Given the description of an element on the screen output the (x, y) to click on. 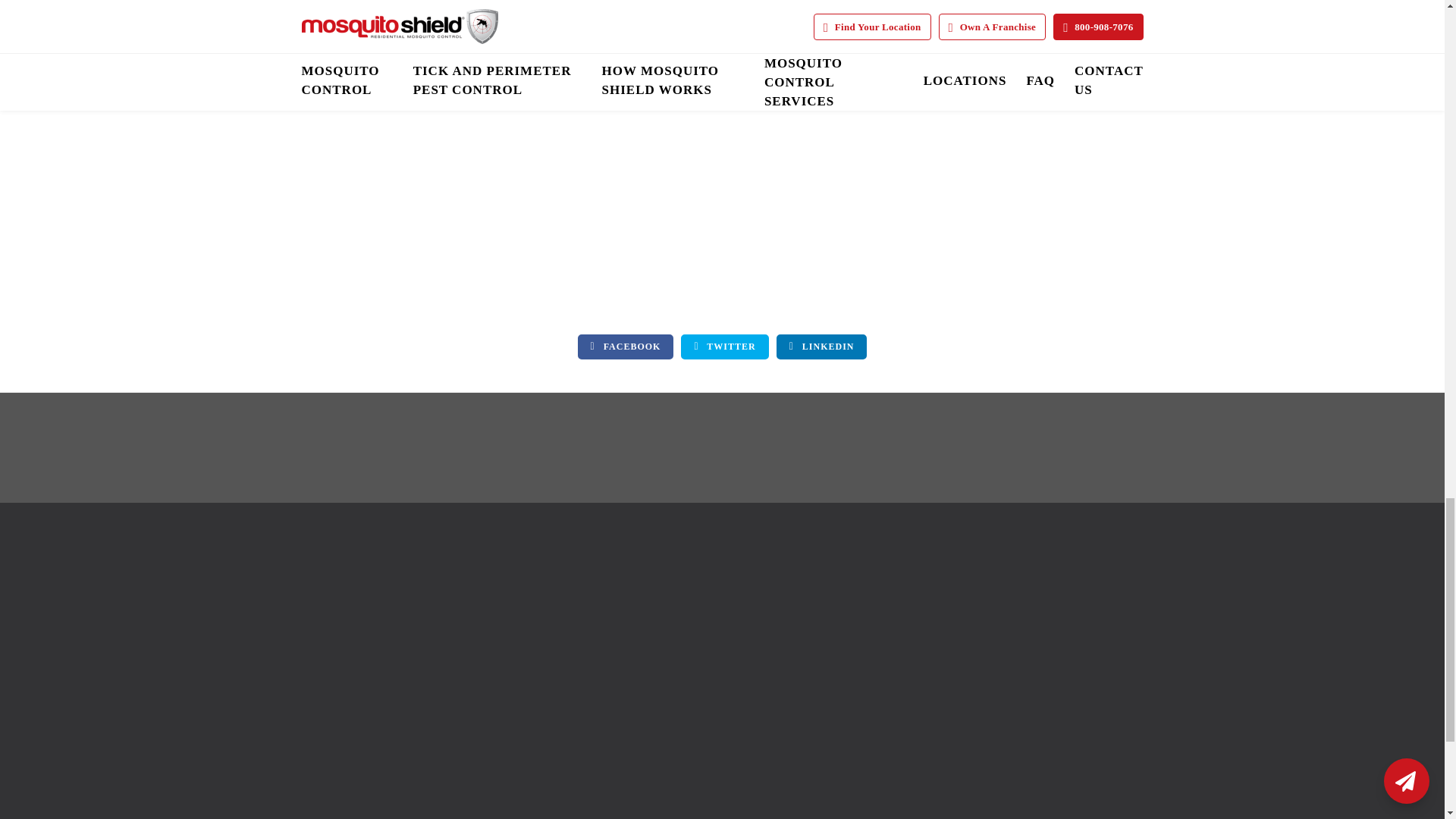
LinkedIn (821, 346)
Twitter (724, 346)
Facebook (626, 346)
